Given the description of an element on the screen output the (x, y) to click on. 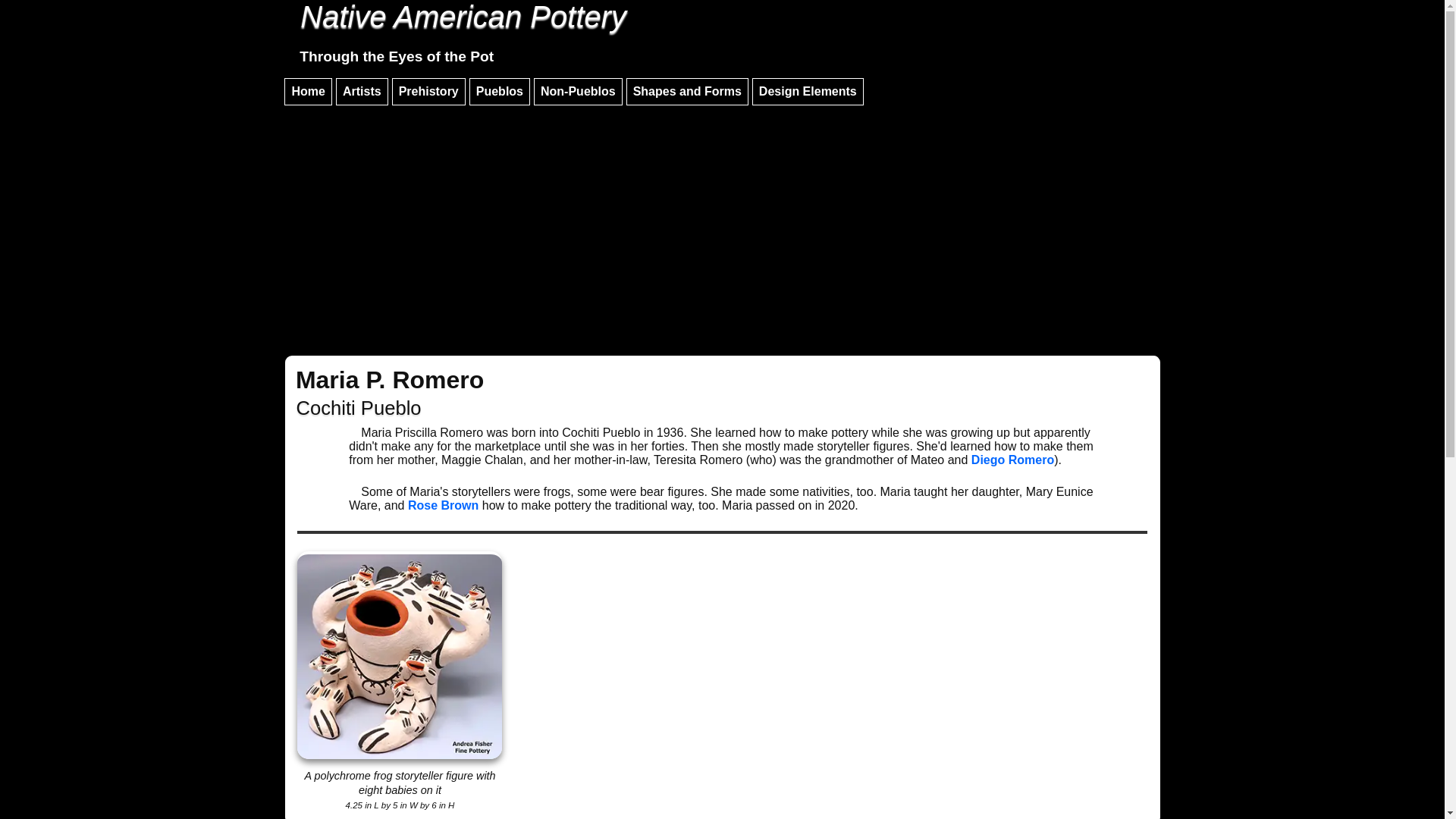
Skip to navigation (722, 33)
Artists (362, 91)
Pueblos (498, 91)
Prehistory (428, 91)
Skip to main content (722, 11)
Home (307, 91)
Click to see a larger version (399, 655)
